Given the description of an element on the screen output the (x, y) to click on. 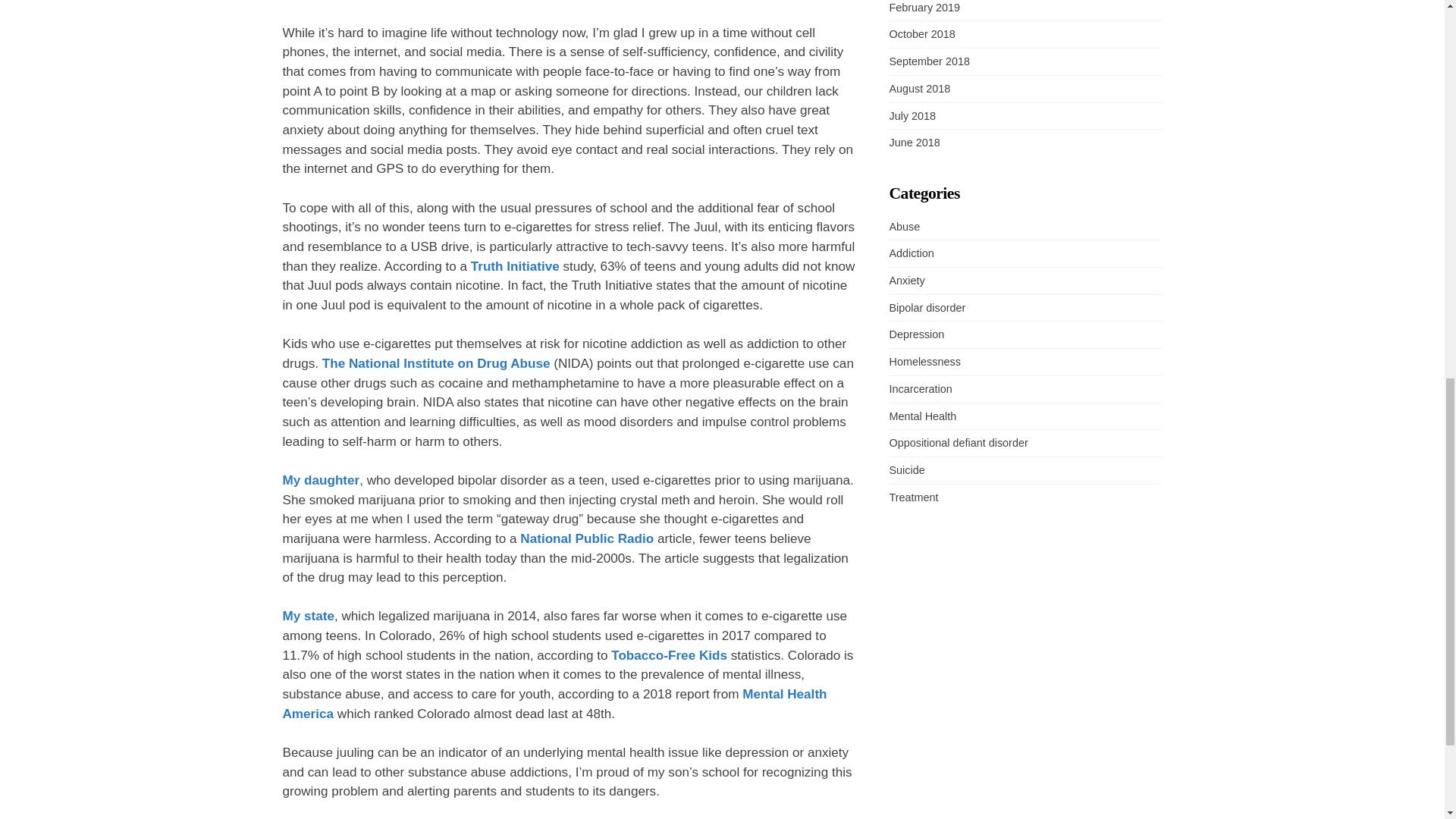
September 2018 (928, 61)
My state (307, 616)
February 2019 (923, 7)
The National Institute on Drug Abuse (435, 363)
Addiction (910, 253)
July 2018 (912, 115)
Mental Health America (554, 704)
Abuse (904, 226)
Depression (915, 334)
June 2018 (913, 142)
Bipolar disorder (926, 307)
My daughter (320, 480)
Anxiety (906, 280)
National Public Radio (586, 538)
August 2018 (919, 88)
